Given the description of an element on the screen output the (x, y) to click on. 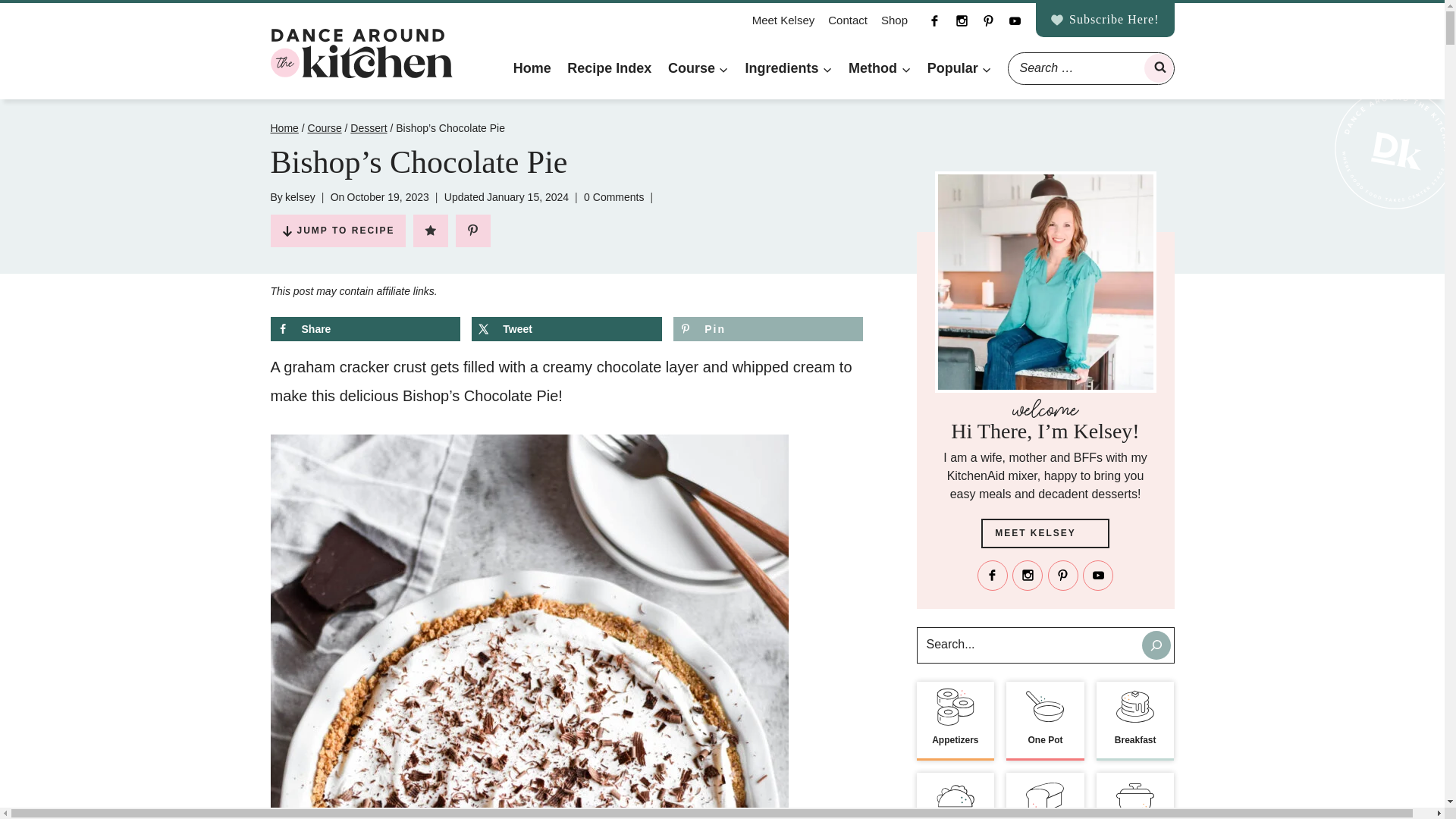
Shop (894, 20)
Search (1157, 68)
Search (1157, 68)
Method (879, 68)
Recipe Index (609, 68)
JUMP TO RECIPE (337, 230)
Home (532, 68)
Save to Pinterest (767, 328)
Share on Facebook (364, 328)
Meet Kelsey (783, 20)
Ingredients (788, 68)
0 Comments (613, 197)
Subscribe Here! (1104, 19)
Contact (848, 20)
Course (697, 68)
